Given the description of an element on the screen output the (x, y) to click on. 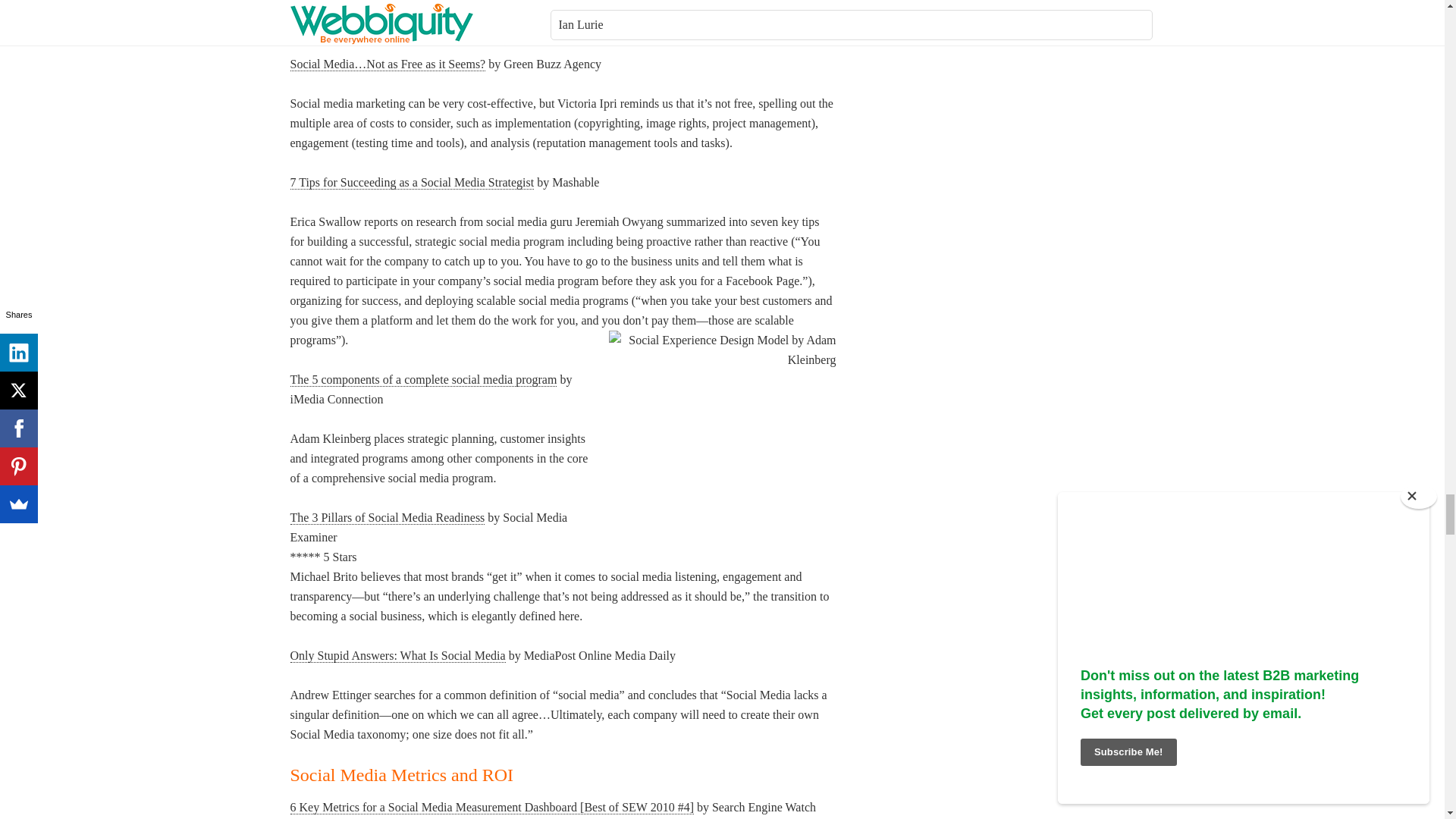
kleinberg-social-experience-design (721, 430)
